Given the description of an element on the screen output the (x, y) to click on. 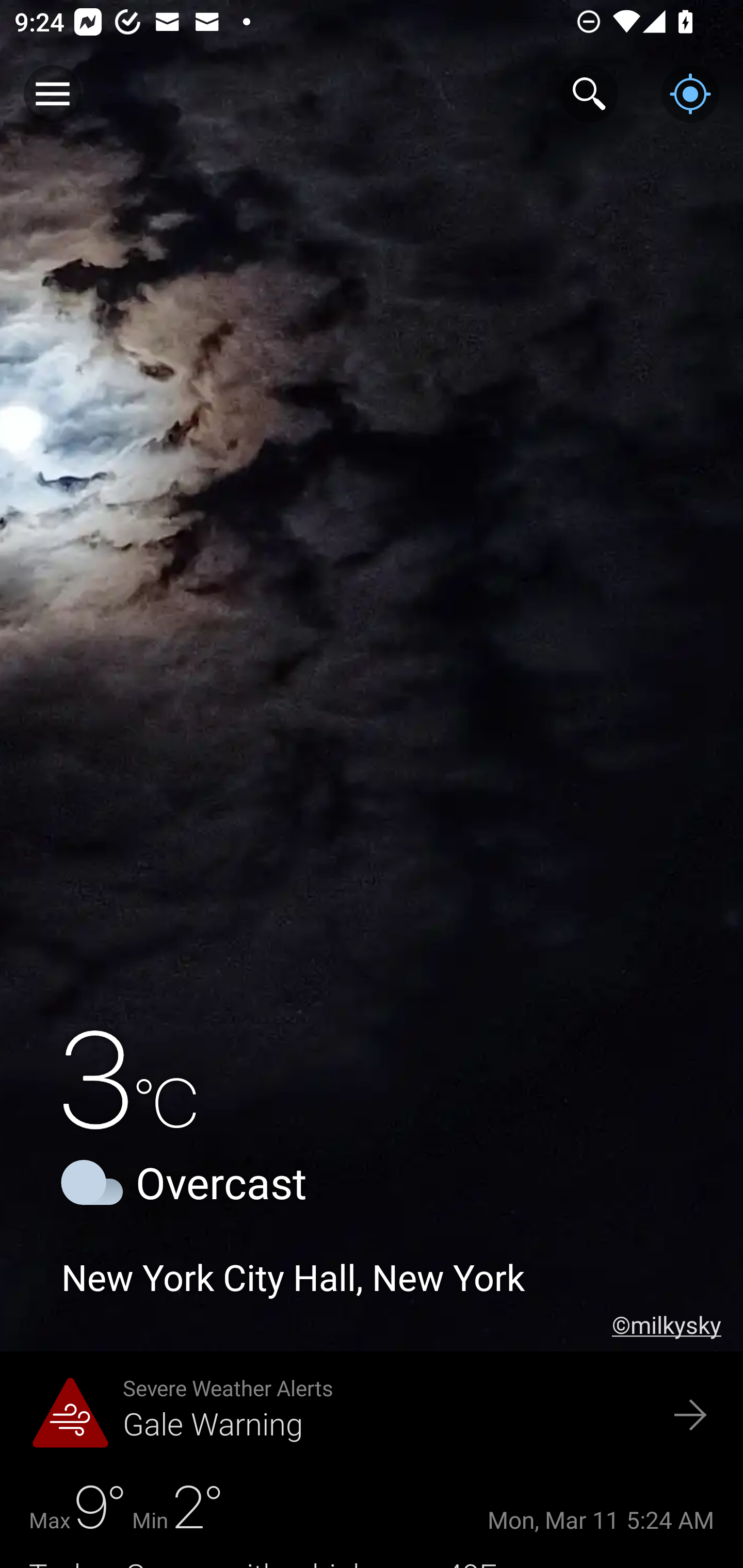
©milkysky (677, 1324)
Severe Weather Alerts Gale Warning  (371, 1416)
